Given the description of an element on the screen output the (x, y) to click on. 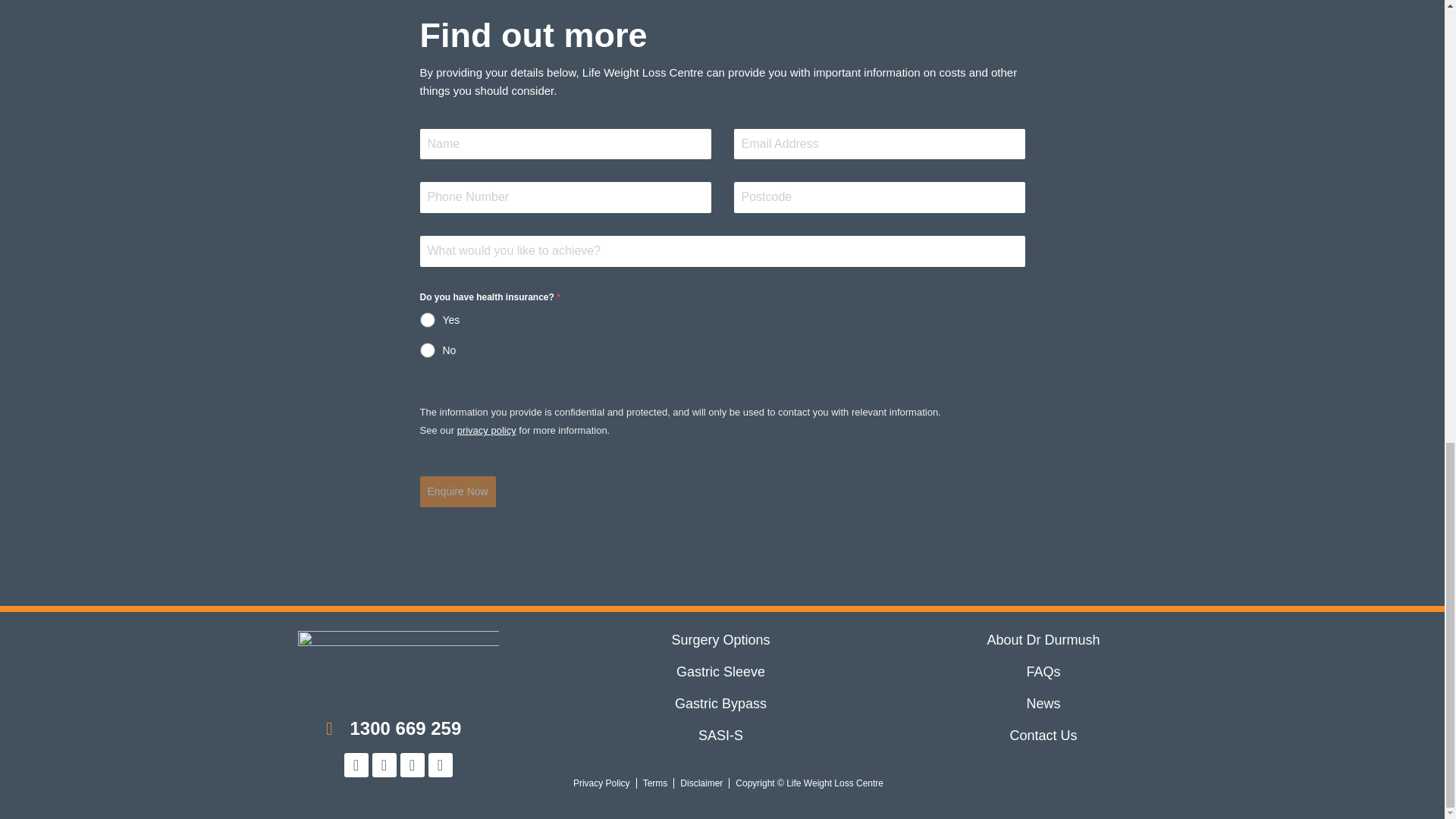
Yes (722, 319)
No (722, 350)
